Given the description of an element on the screen output the (x, y) to click on. 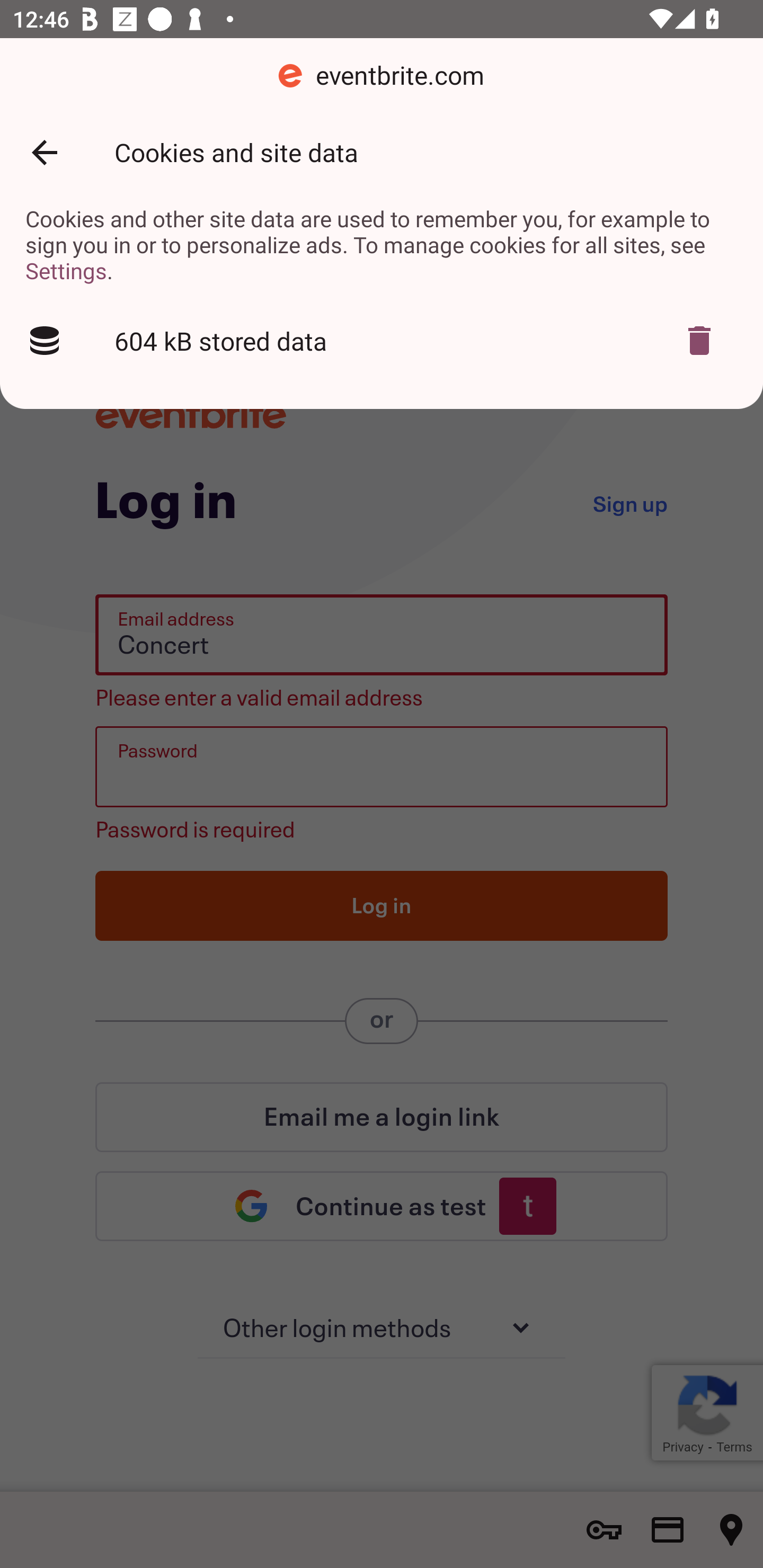
eventbrite.com (381, 75)
Back (44, 152)
604 kB stored data Delete cookies? (381, 340)
